Given the description of an element on the screen output the (x, y) to click on. 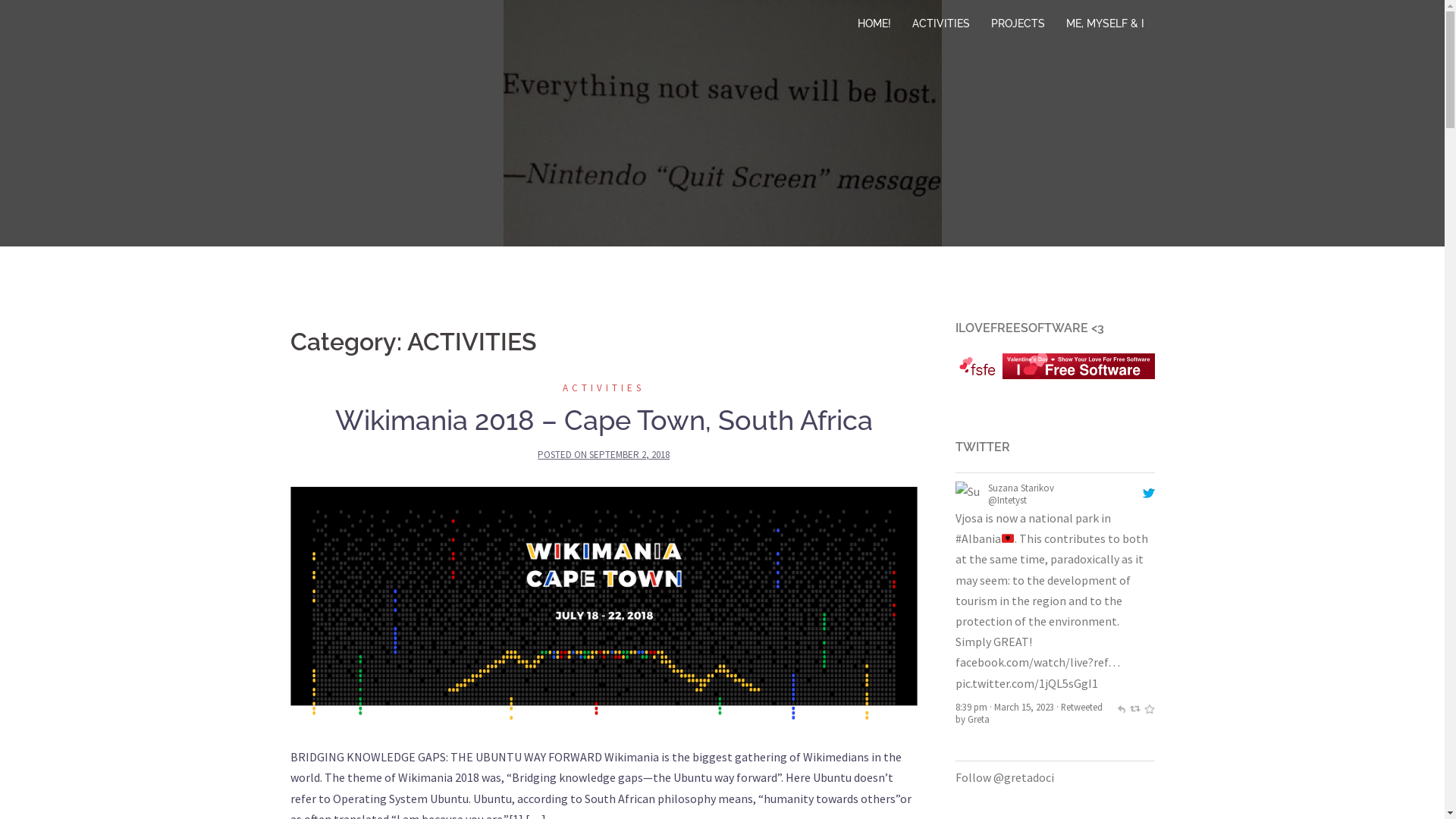
ACTIVITIES Element type: text (940, 24)
retweet Element type: hover (1134, 706)
HOME! Element type: text (873, 24)
favorite Element type: hover (1148, 706)
PROJECTS Element type: text (1017, 24)
Suzana Starikov Element type: hover (968, 492)
reply Element type: hover (1120, 706)
Follow @gretadoci Element type: text (1004, 776)
Search Element type: text (46, 18)
ME, MYSELF & I Element type: text (1105, 24)
Retweeted by Greta Element type: text (1031, 651)
@arianit@mastodon.social Element type: text (1045, 487)
@arianitd Element type: text (1008, 499)
SEPTEMBER 2, 2018 Element type: text (629, 454)
ACTIVITIES Element type: text (603, 387)
